Given the description of an element on the screen output the (x, y) to click on. 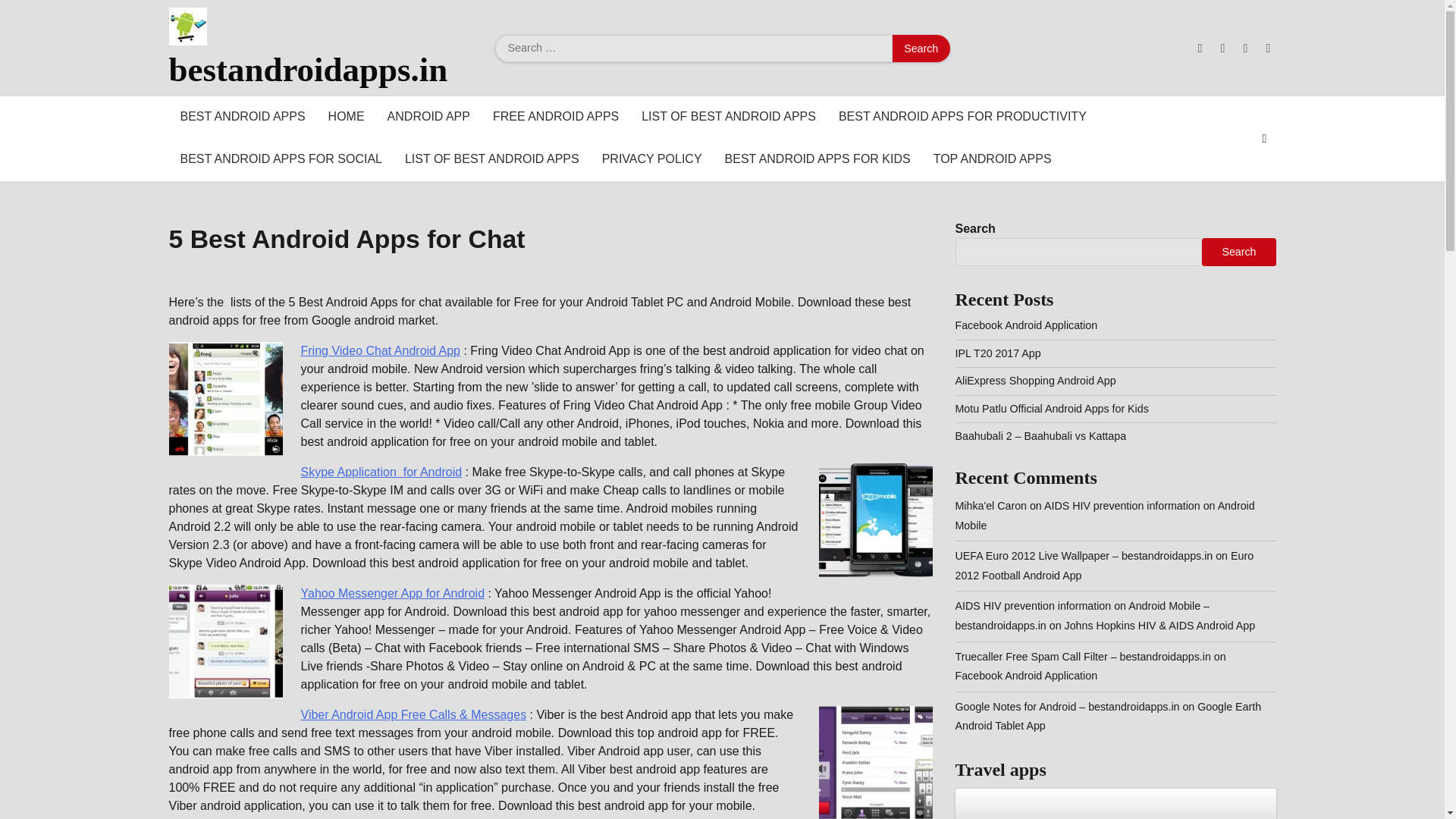
ANDROID APP (428, 117)
twitter (1244, 48)
skype best android app for video chat (875, 520)
yahoo messenger best android apps (225, 641)
facebook (1199, 48)
Search (921, 48)
Skype Application  for Android (380, 472)
Search (921, 48)
LIST OF BEST ANDROID APPS (492, 159)
PRIVACY POLICY (652, 159)
